Given the description of an element on the screen output the (x, y) to click on. 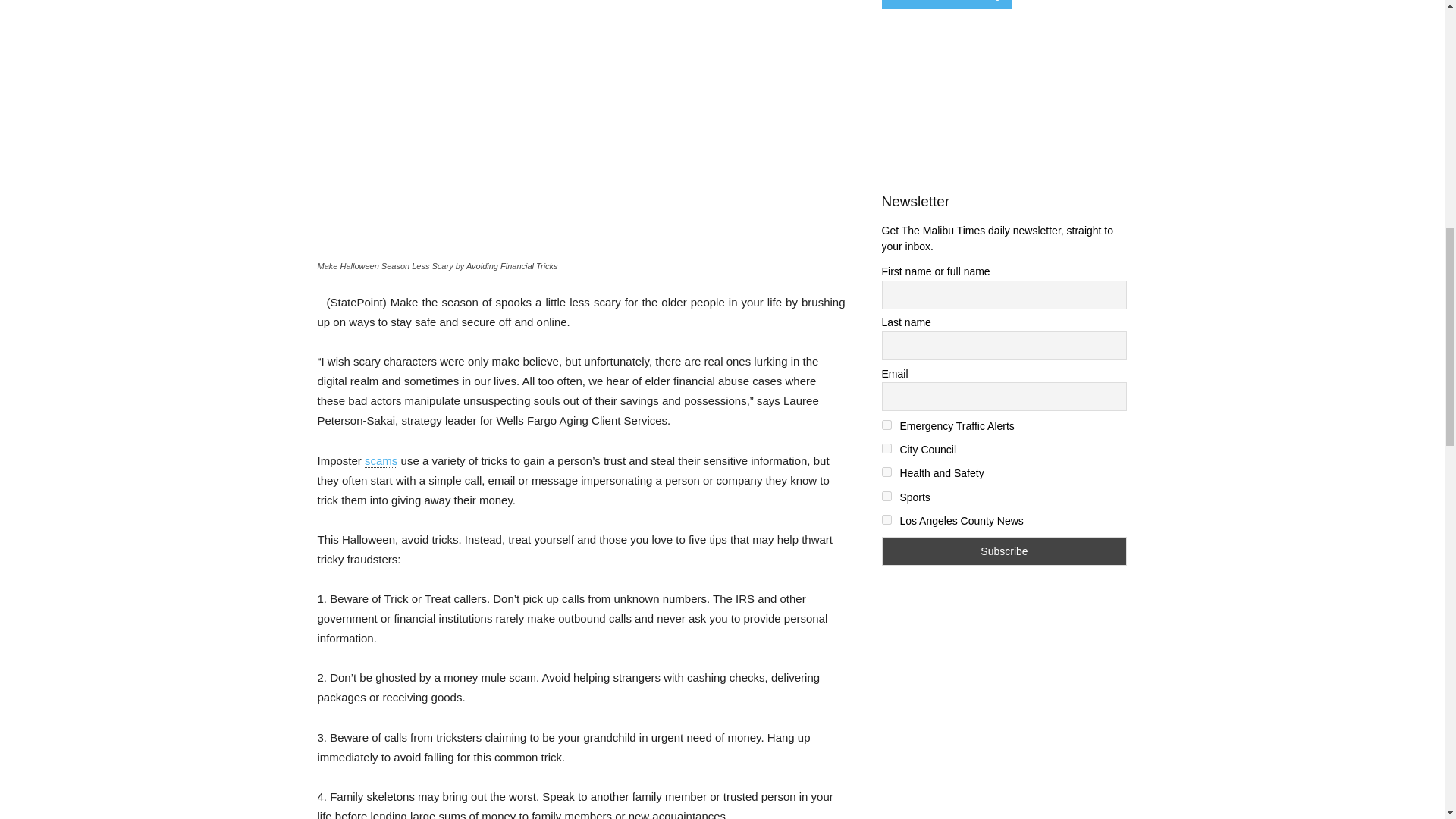
Subscribe (1003, 551)
4 (885, 471)
5 (885, 496)
6 (885, 519)
3 (885, 448)
2 (885, 424)
